Given the description of an element on the screen output the (x, y) to click on. 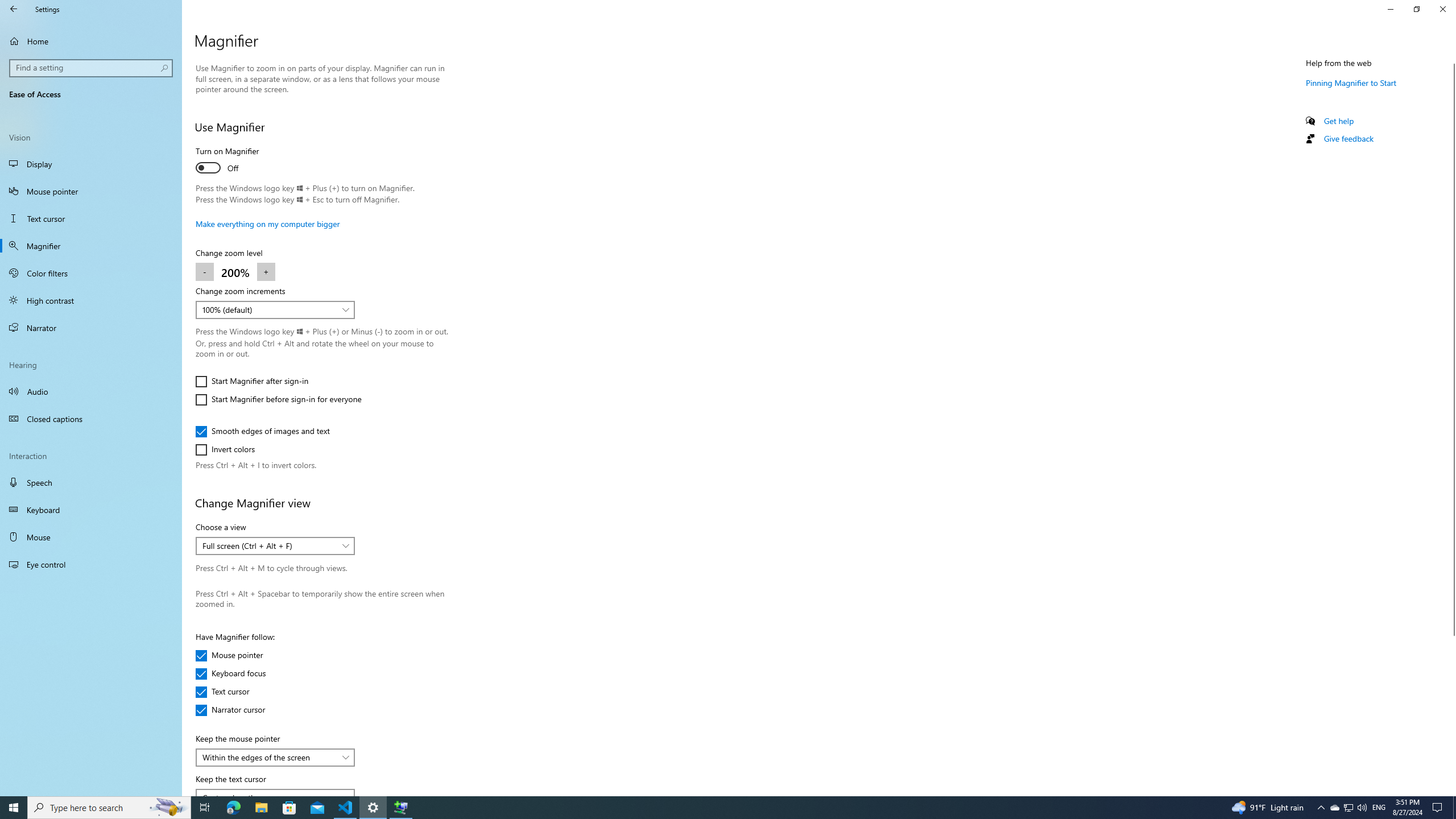
Mouse (91, 536)
Make everything on my computer bigger (267, 223)
Turn on Magnifier (237, 160)
Give feedback (1348, 138)
Back (13, 9)
Start Magnifier after sign-in (251, 381)
Display (91, 163)
Centered on the screen (269, 793)
Task View (204, 807)
Keyboard focus (230, 674)
Narrator (91, 327)
Microsoft Edge (233, 807)
Search highlights icon opens search home window (167, 807)
Pinning Magnifier to Start (1351, 82)
